Given the description of an element on the screen output the (x, y) to click on. 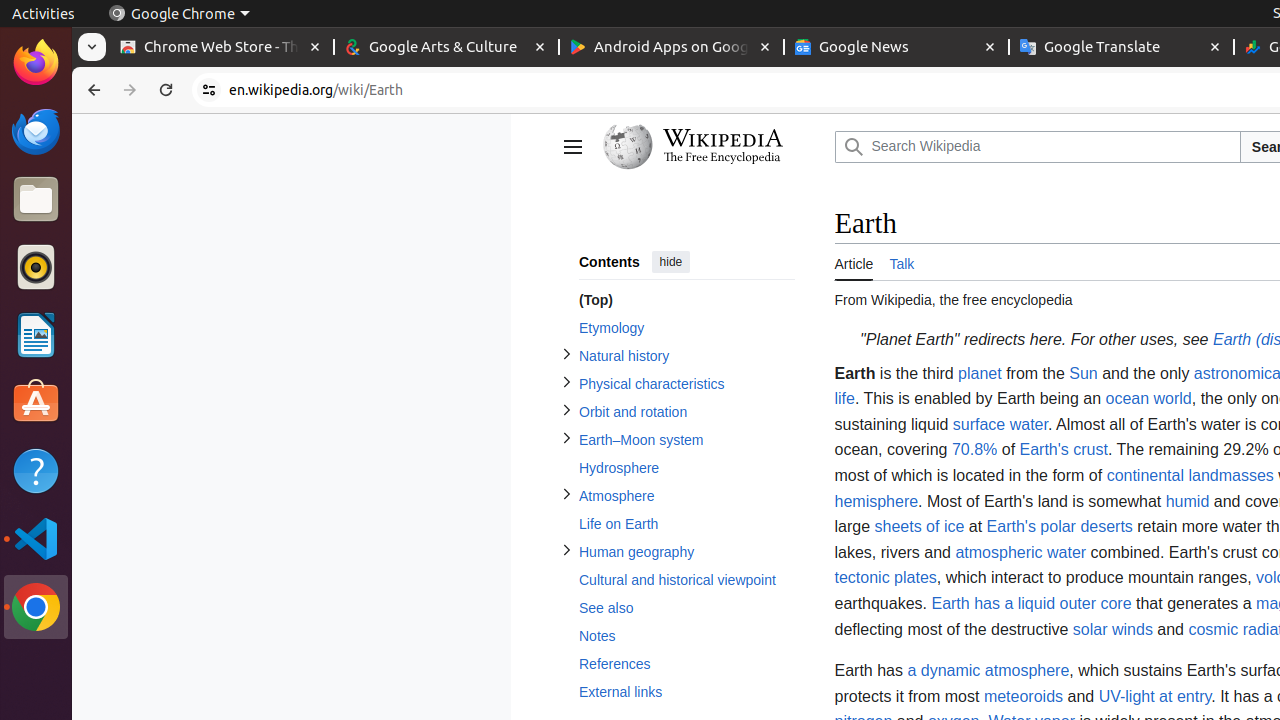
meteoroids Element type: link (1023, 696)
Rhythmbox Element type: push-button (36, 267)
hide Element type: push-button (670, 261)
Google Chrome Element type: menu (179, 13)
Reload Element type: push-button (166, 90)
